Given the description of an element on the screen output the (x, y) to click on. 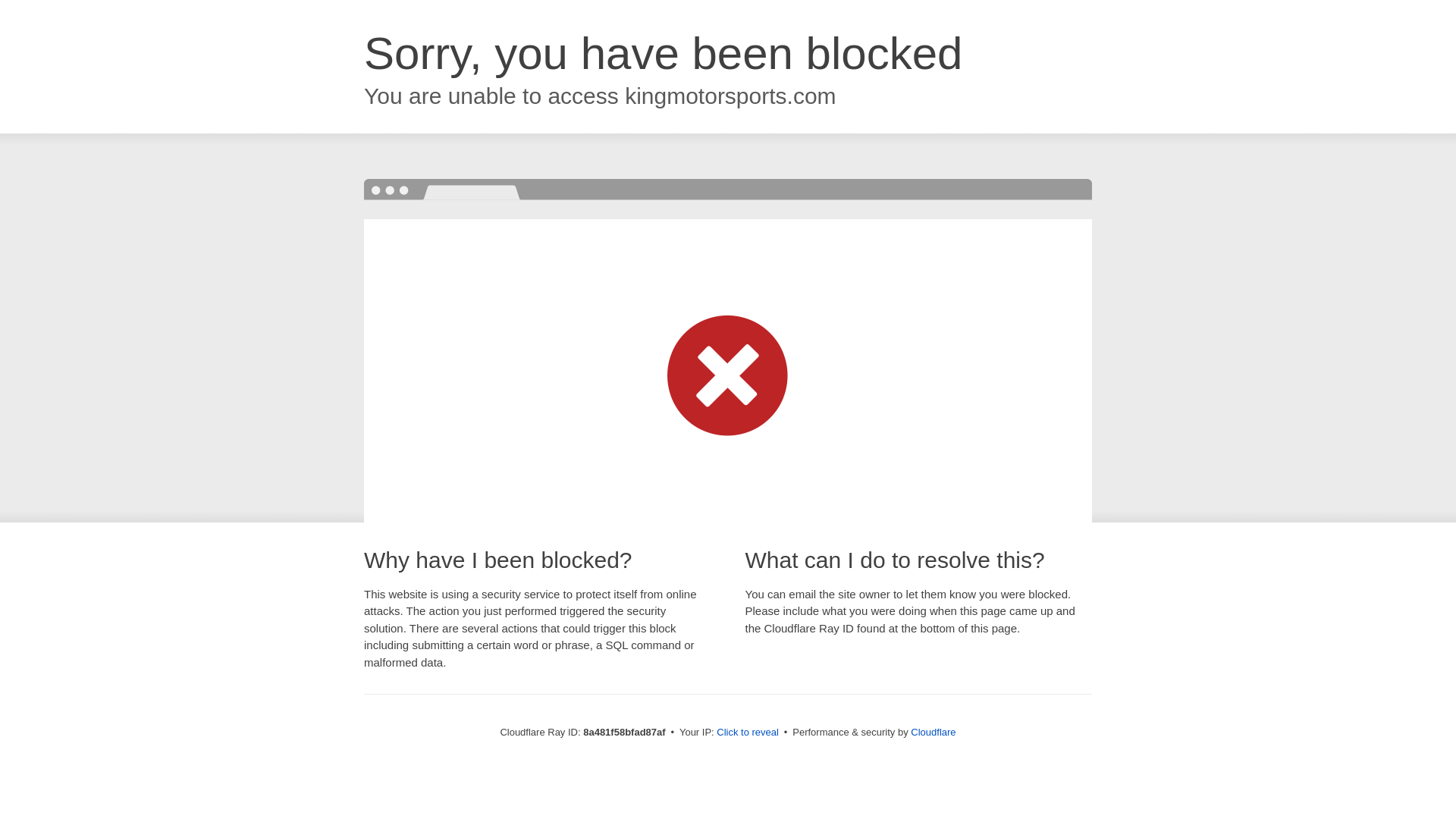
Cloudflare (933, 731)
Click to reveal (747, 732)
